Given the description of an element on the screen output the (x, y) to click on. 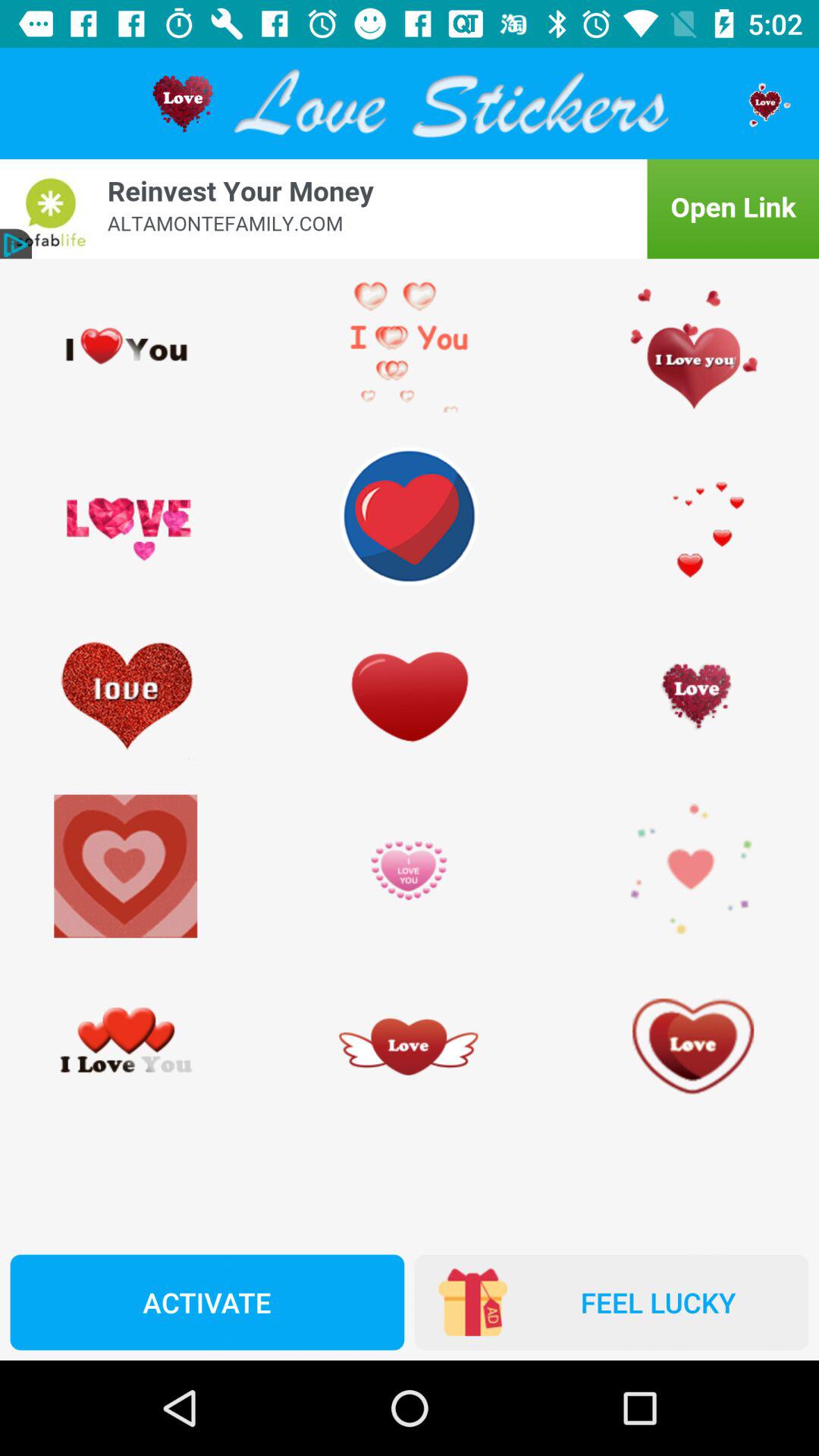
press feel lucky icon (611, 1302)
